Given the description of an element on the screen output the (x, y) to click on. 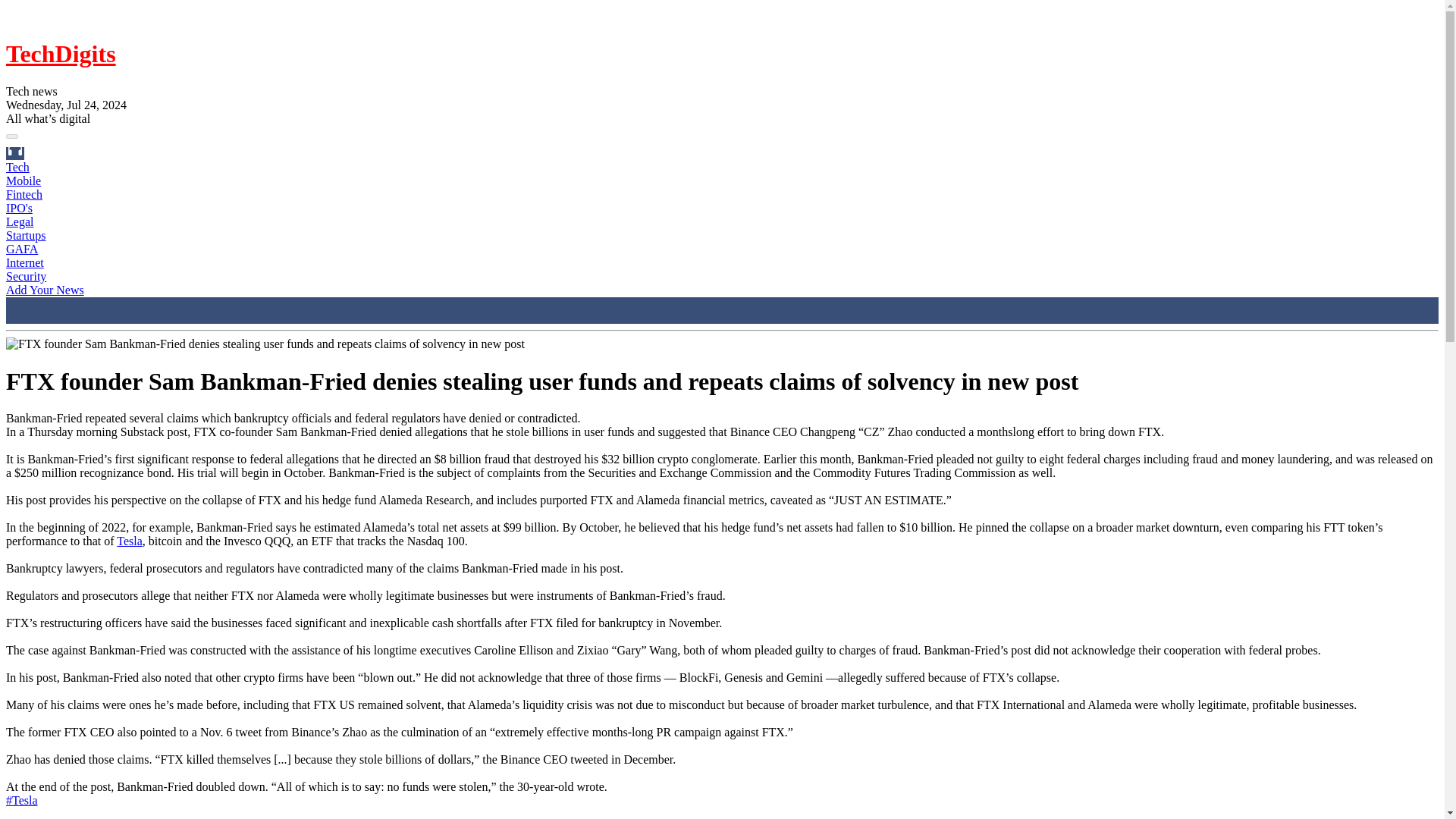
Security (25, 276)
GAFA (21, 248)
Mobile (22, 180)
Add Your News (44, 289)
Tech (17, 166)
Startups (25, 235)
Tesla (129, 540)
TechDigits (60, 53)
Internet (24, 262)
Fintech (23, 194)
Legal (19, 221)
IPO's (18, 207)
